Given the description of an element on the screen output the (x, y) to click on. 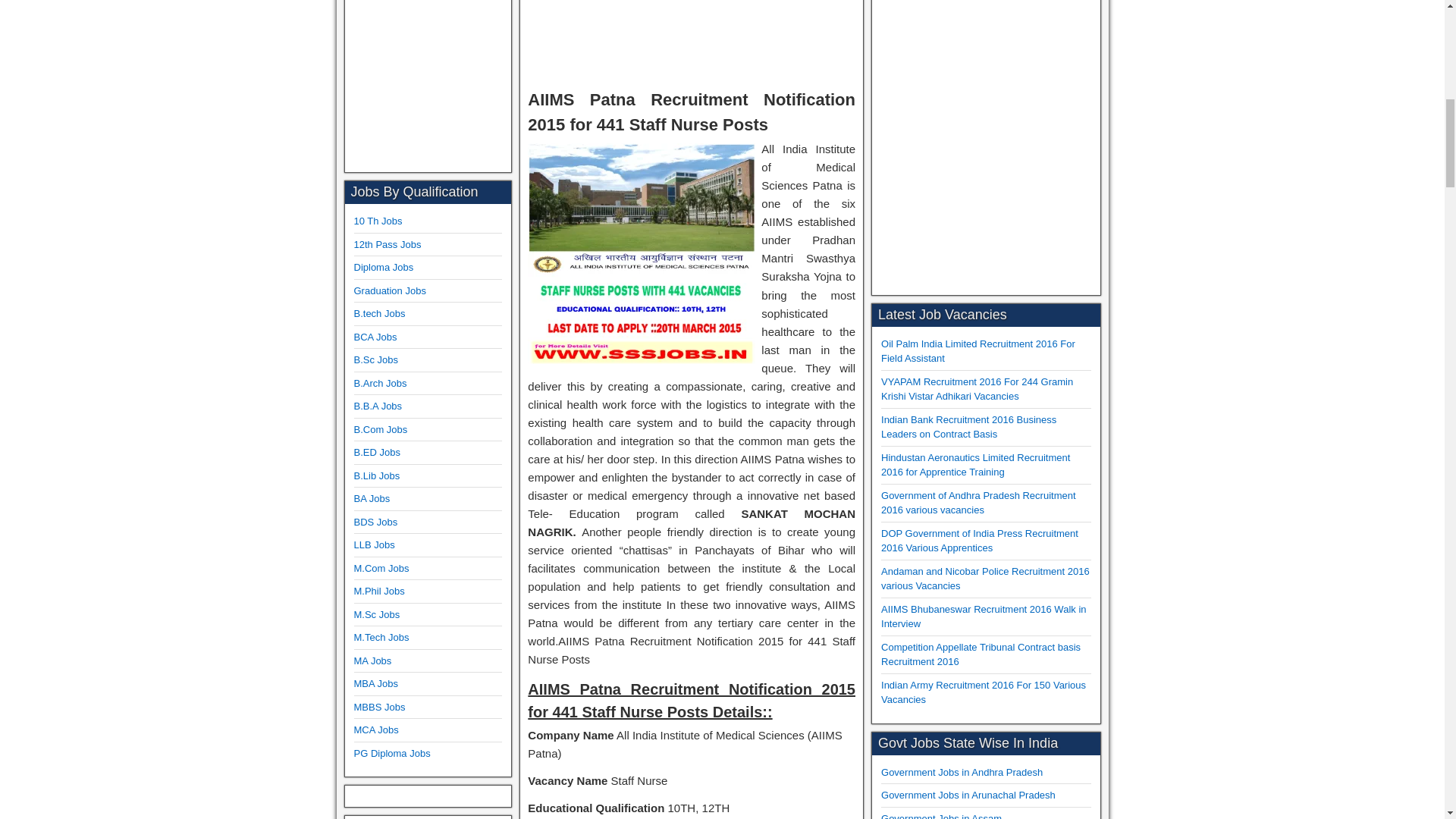
LLB Jobs (373, 544)
B.ED Jobs (375, 451)
12th Pass Jobs (386, 244)
B.Arch Jobs (379, 383)
M.Phil Jobs (378, 591)
M.Sc Jobs (375, 614)
BCA Jobs (374, 337)
10 Th Jobs (377, 220)
MBA Jobs (375, 683)
B.Com Jobs (380, 429)
B.Lib Jobs (375, 475)
MA Jobs (372, 660)
B.B.A Jobs (377, 405)
BDS Jobs (375, 521)
Graduation Jobs (389, 290)
